Given the description of an element on the screen output the (x, y) to click on. 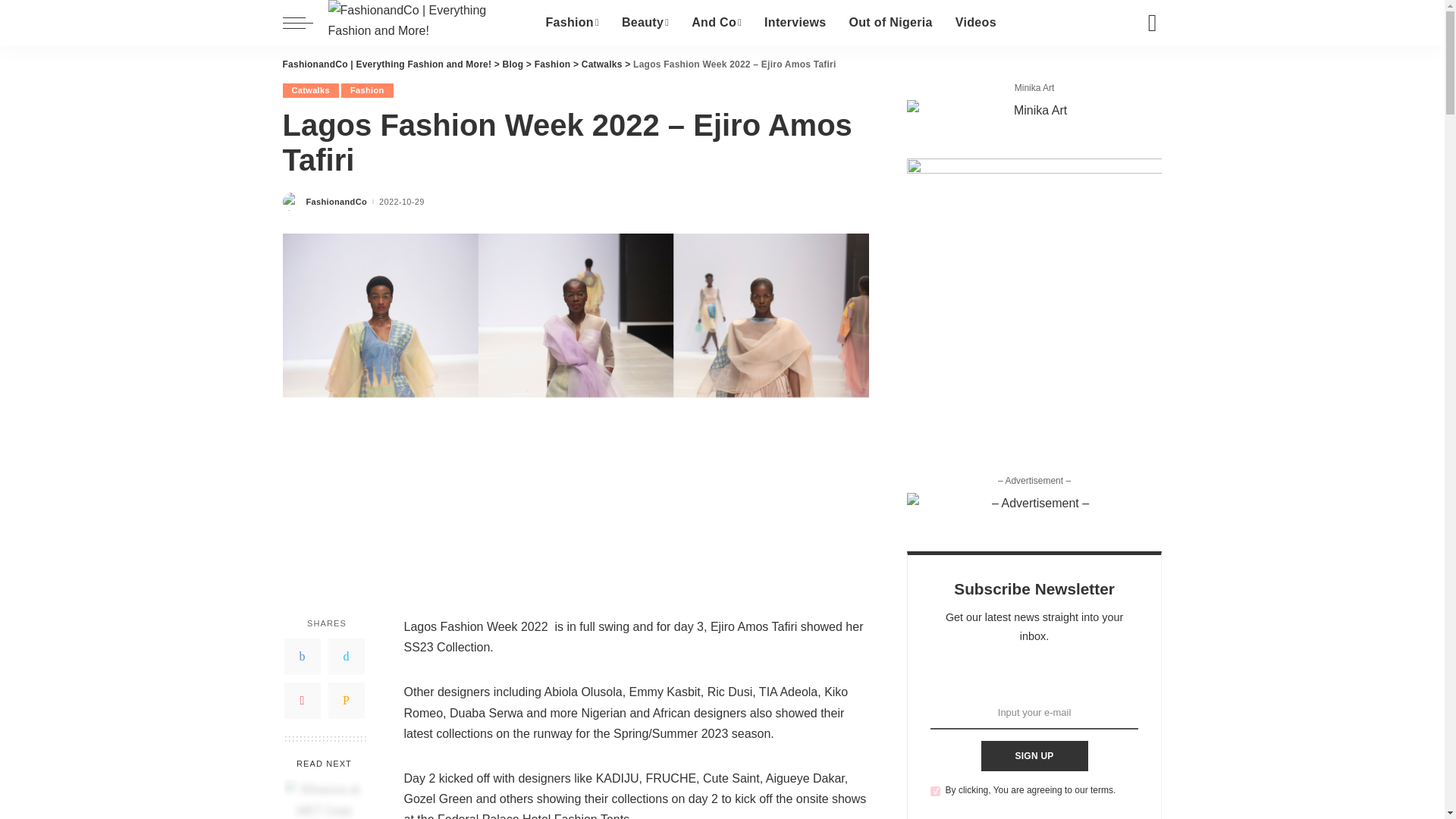
Email (345, 700)
Interviews (794, 22)
And Co (715, 22)
Fashion (572, 22)
Go to Blog. (513, 63)
Go to the Catwalks Category archives. (601, 63)
Out of Nigeria (890, 22)
Beauty (644, 22)
Twitter (345, 656)
Go to the Fashion Category archives. (552, 63)
